Given the description of an element on the screen output the (x, y) to click on. 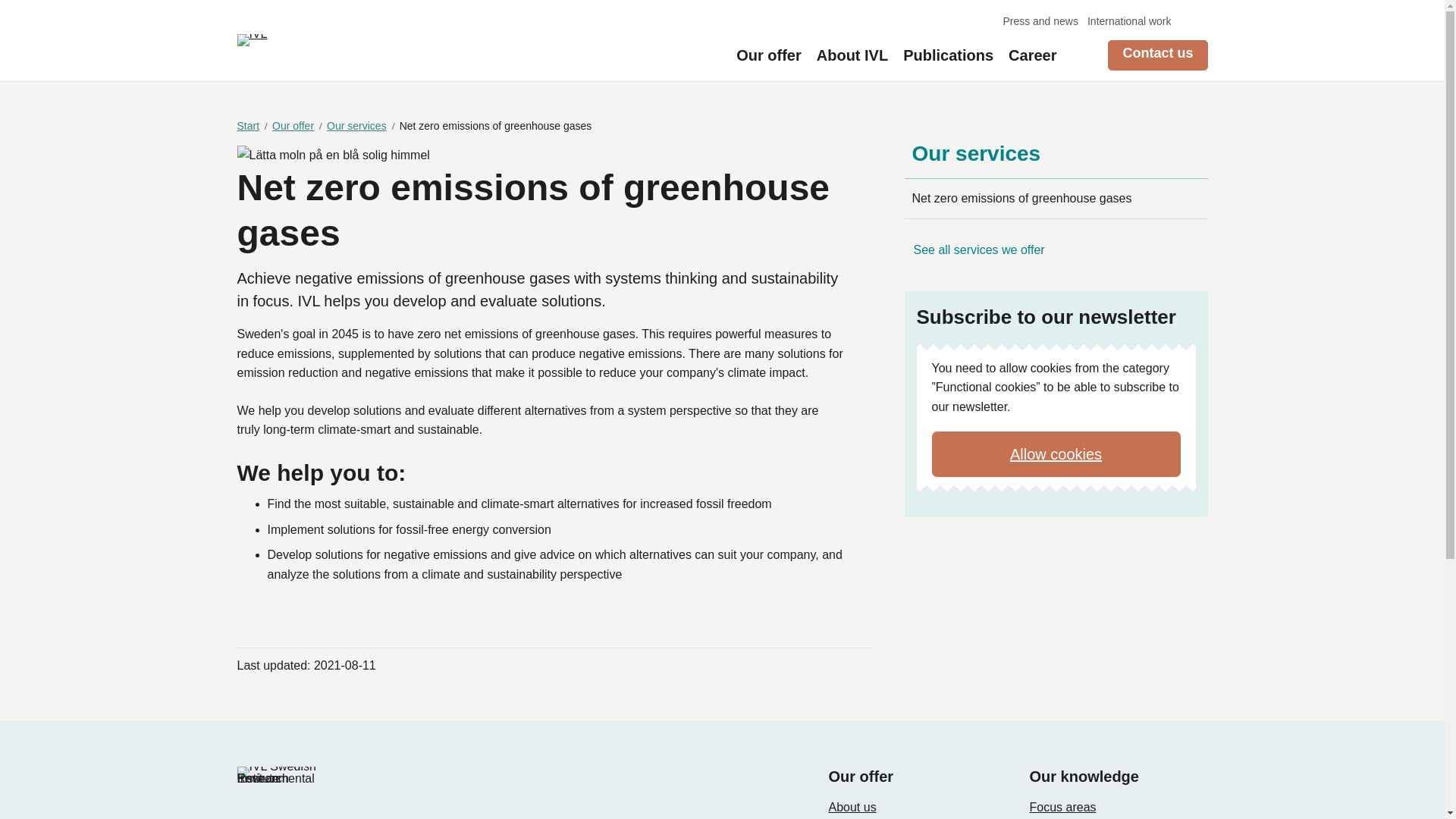
Net zero emissions of greenhouse gases (1055, 199)
Our offer (297, 125)
Publications (947, 54)
Career (1033, 54)
About IVL (852, 54)
Our offer (769, 54)
Our services (1055, 159)
See all services we offer (977, 249)
Contact us (1157, 55)
Go to Net zero emissions of greenhouse gases (1055, 199)
